Given the description of an element on the screen output the (x, y) to click on. 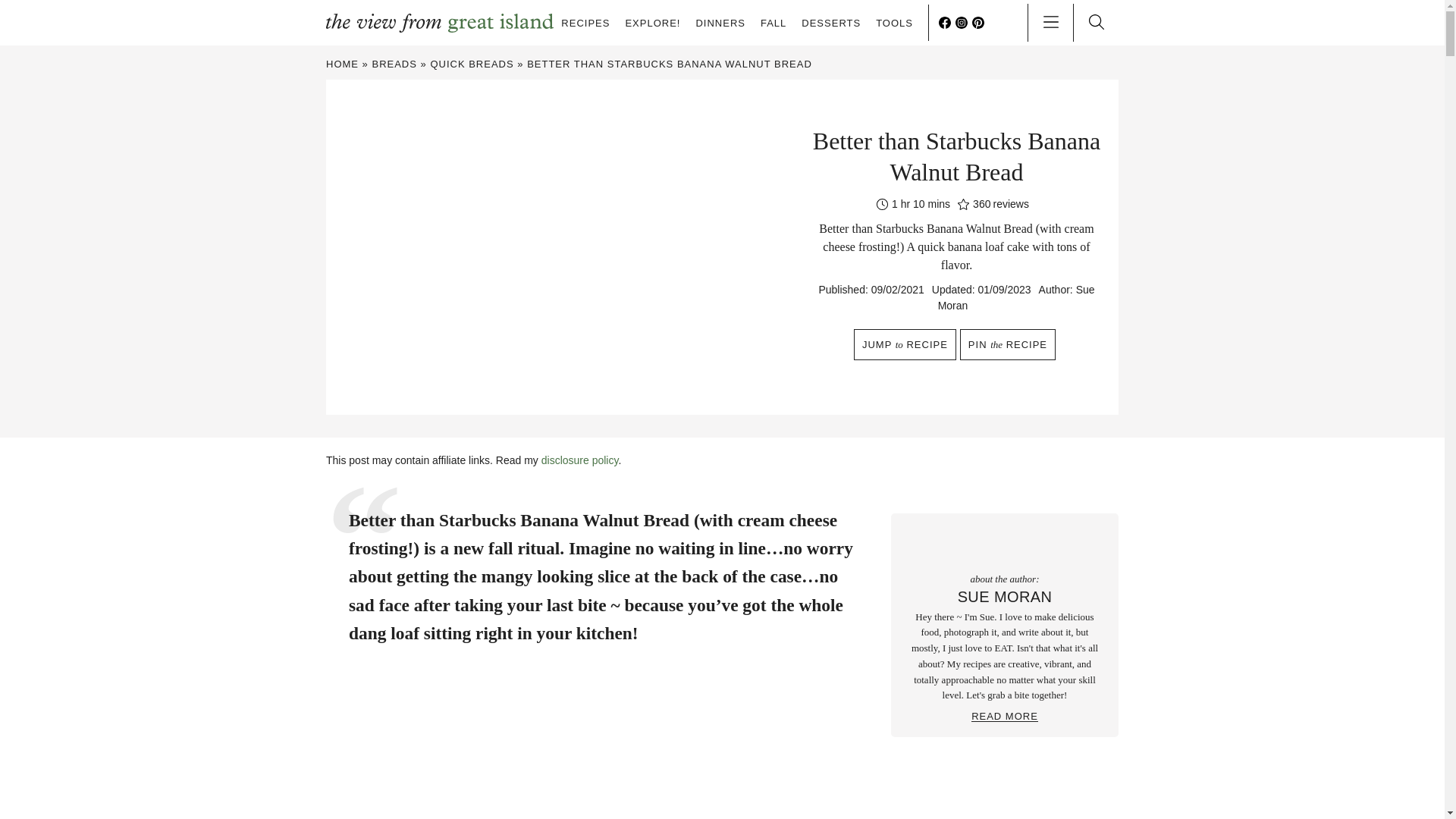
TOOLS (894, 22)
DINNERS (720, 22)
RECIPES (585, 22)
FALL (773, 22)
EXPLORE! (651, 22)
DESSERTS (831, 22)
